Given the description of an element on the screen output the (x, y) to click on. 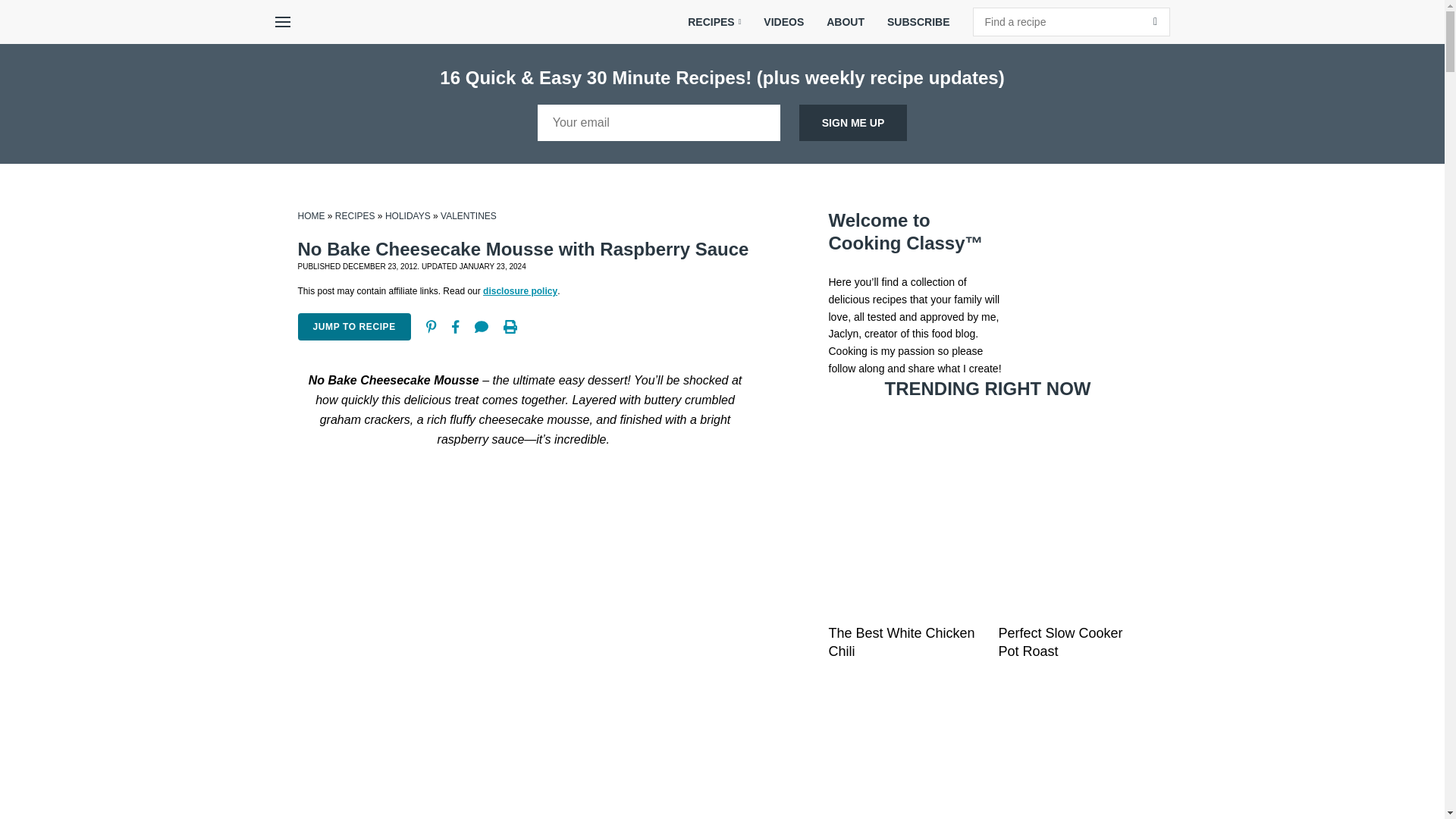
RECIPES (714, 22)
Submit (1155, 22)
Share (455, 326)
Print (510, 326)
Pin (431, 326)
VIDEOS (783, 22)
ABOUT (845, 22)
Sign Me Up (853, 122)
Comments (481, 326)
Menu (281, 22)
SUBSCRIBE (918, 22)
